Given the description of an element on the screen output the (x, y) to click on. 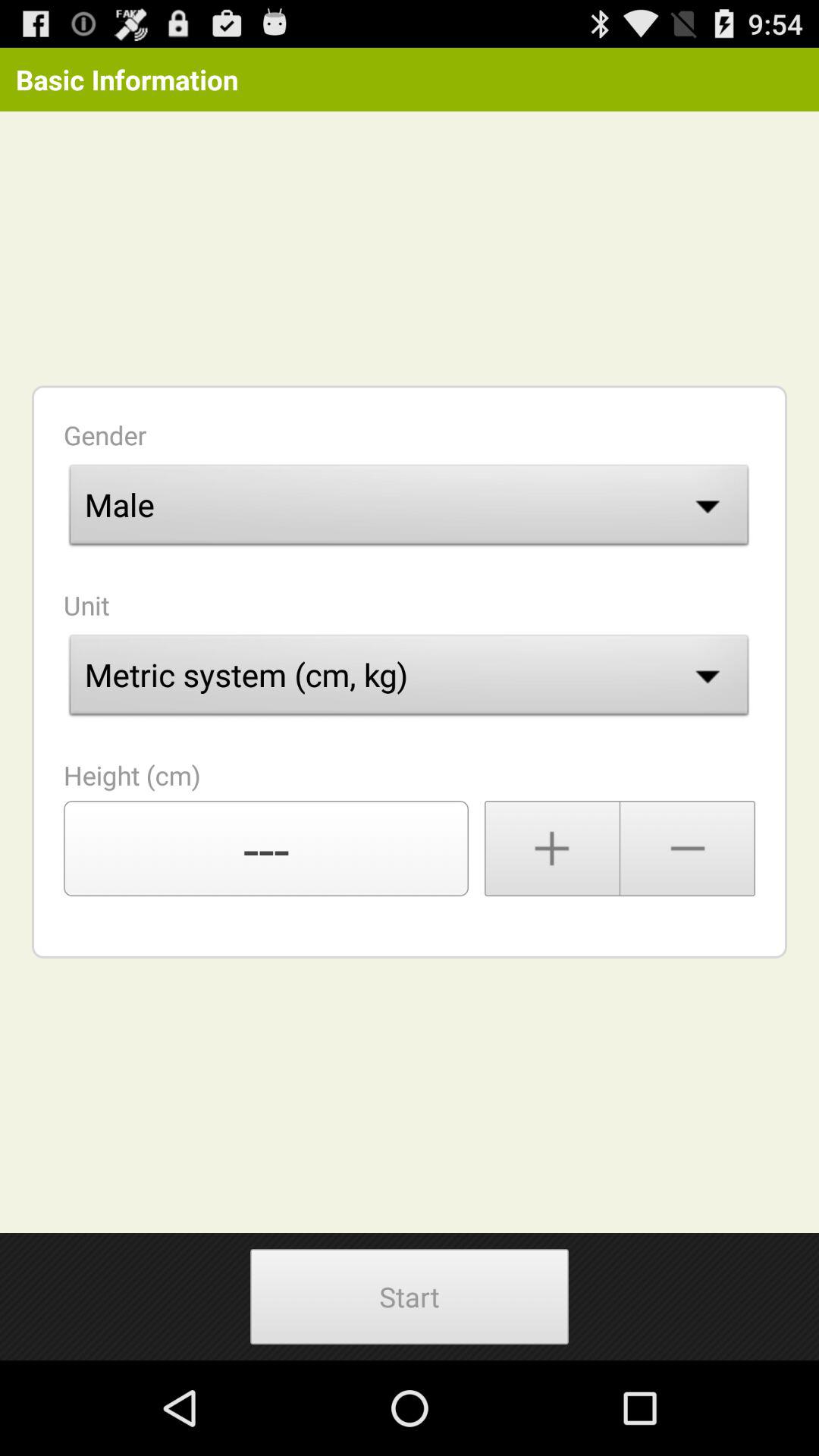
raise height number (551, 848)
